Given the description of an element on the screen output the (x, y) to click on. 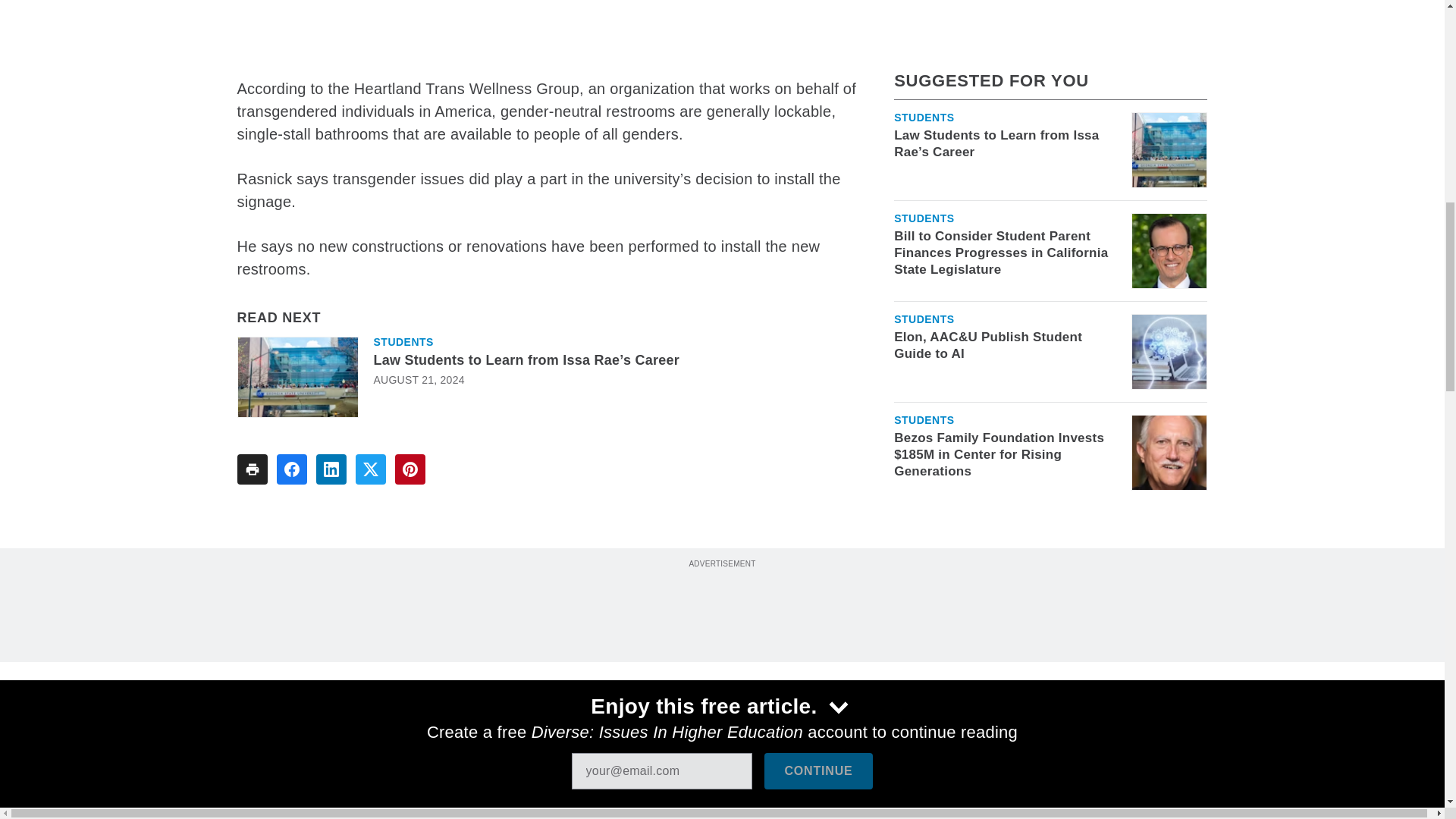
Students (402, 341)
Share To facebook (290, 469)
Share To print (250, 469)
